Given the description of an element on the screen output the (x, y) to click on. 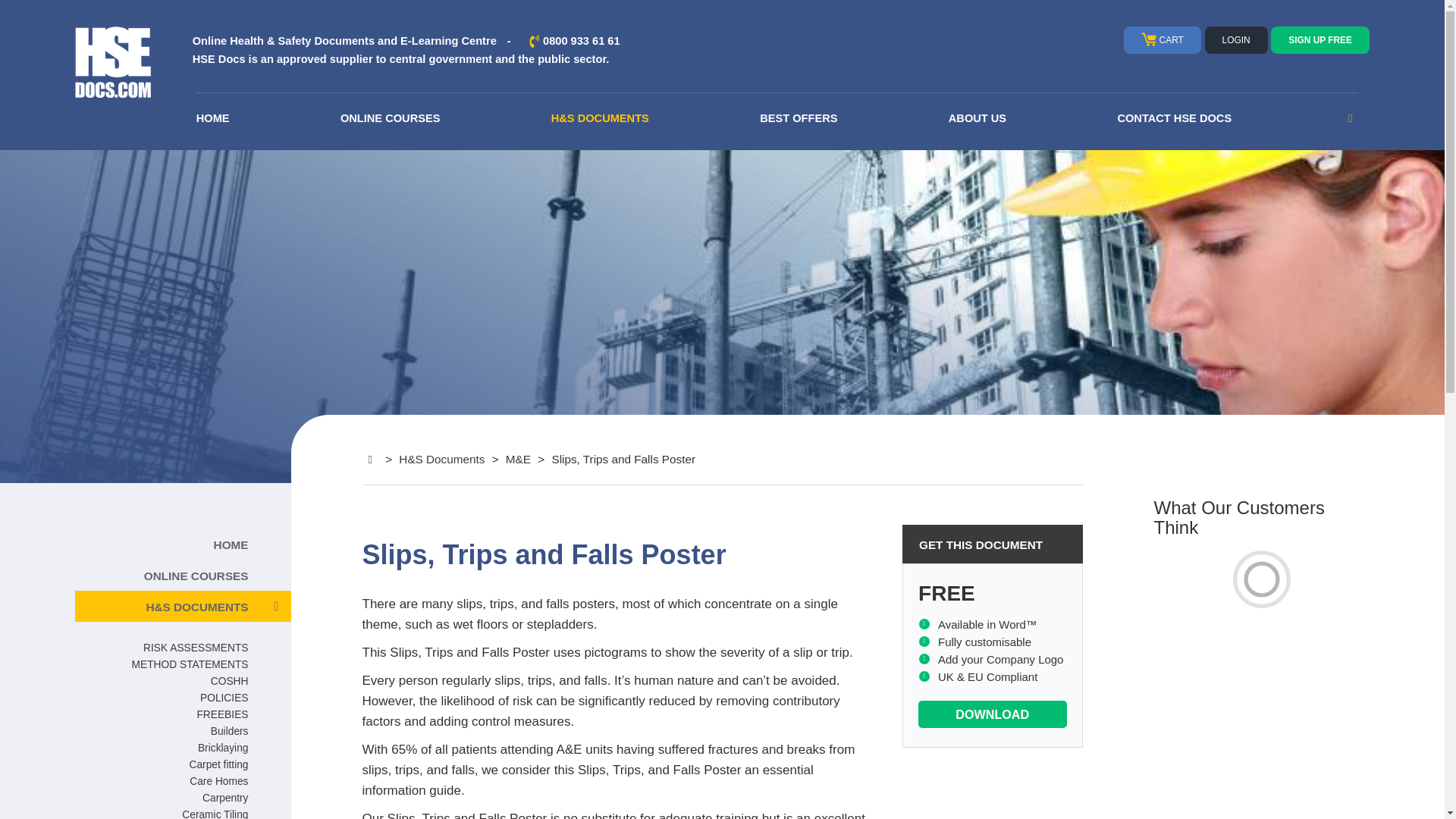
Builders (229, 729)
SIGN UP FREE (1320, 40)
ONLINE COURSES (390, 118)
CONTACT HSE DOCS (1173, 118)
0800 933 61 61 (581, 40)
RISK ASSESSMENTS (194, 646)
HOME (161, 543)
CART (1161, 40)
LOGIN (1236, 40)
ONLINE COURSES (161, 574)
Bricklaying (223, 746)
POLICIES (224, 696)
METHOD STATEMENTS (190, 663)
HOME (213, 118)
BEST OFFERS (798, 118)
